Given the description of an element on the screen output the (x, y) to click on. 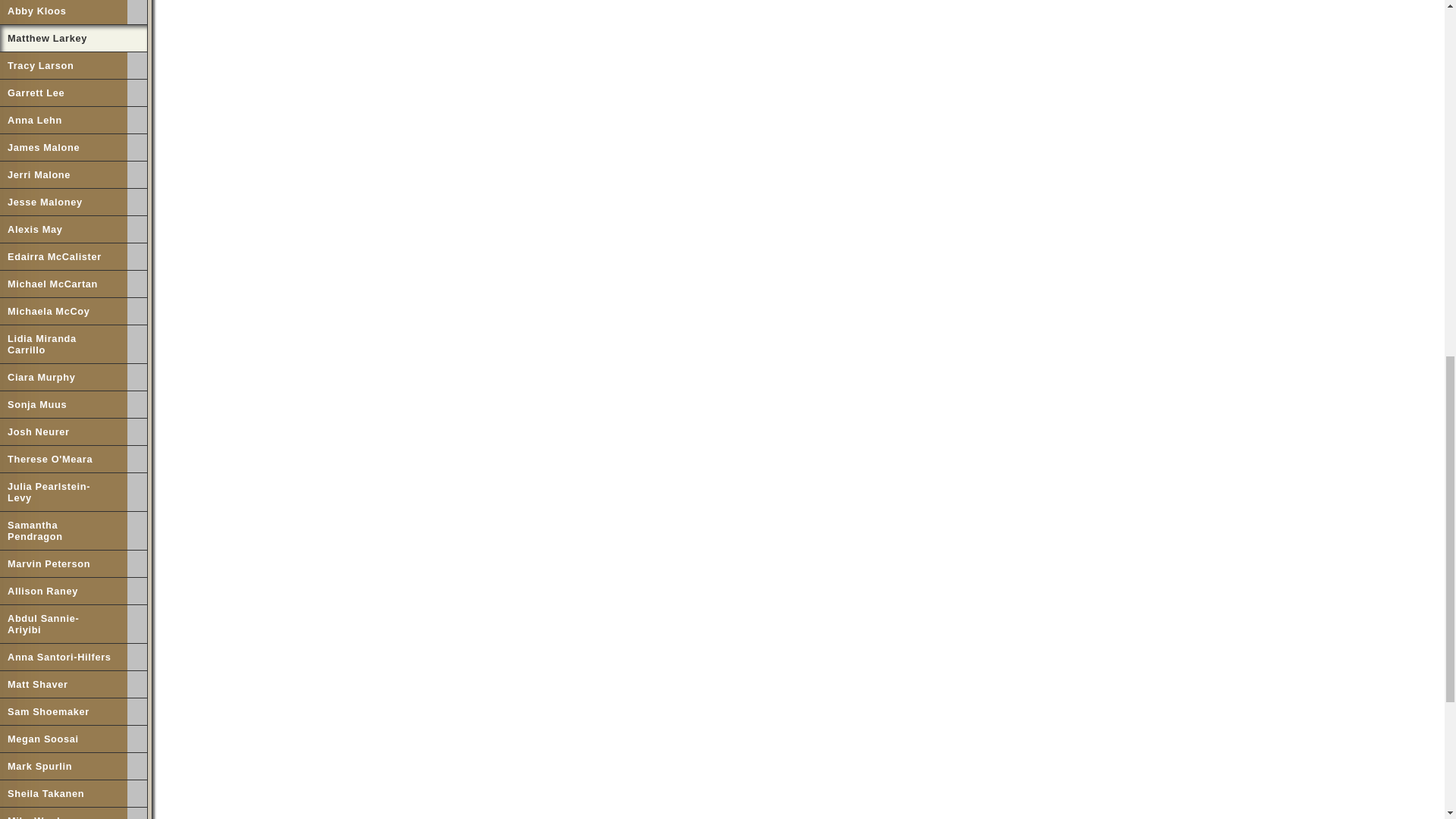
Abby Kloos (64, 12)
Michaela McCoy (64, 311)
Garrett Lee (64, 92)
Jesse Maloney (64, 202)
Lidia Miranda Carrillo (64, 344)
Tracy Larson (64, 65)
Alexis May (64, 229)
Matthew Larkey (71, 38)
James Malone (64, 147)
Anna Lehn (64, 120)
Jerri Malone (64, 174)
Edairra McCalister (64, 256)
Michael McCartan (64, 284)
